Given the description of an element on the screen output the (x, y) to click on. 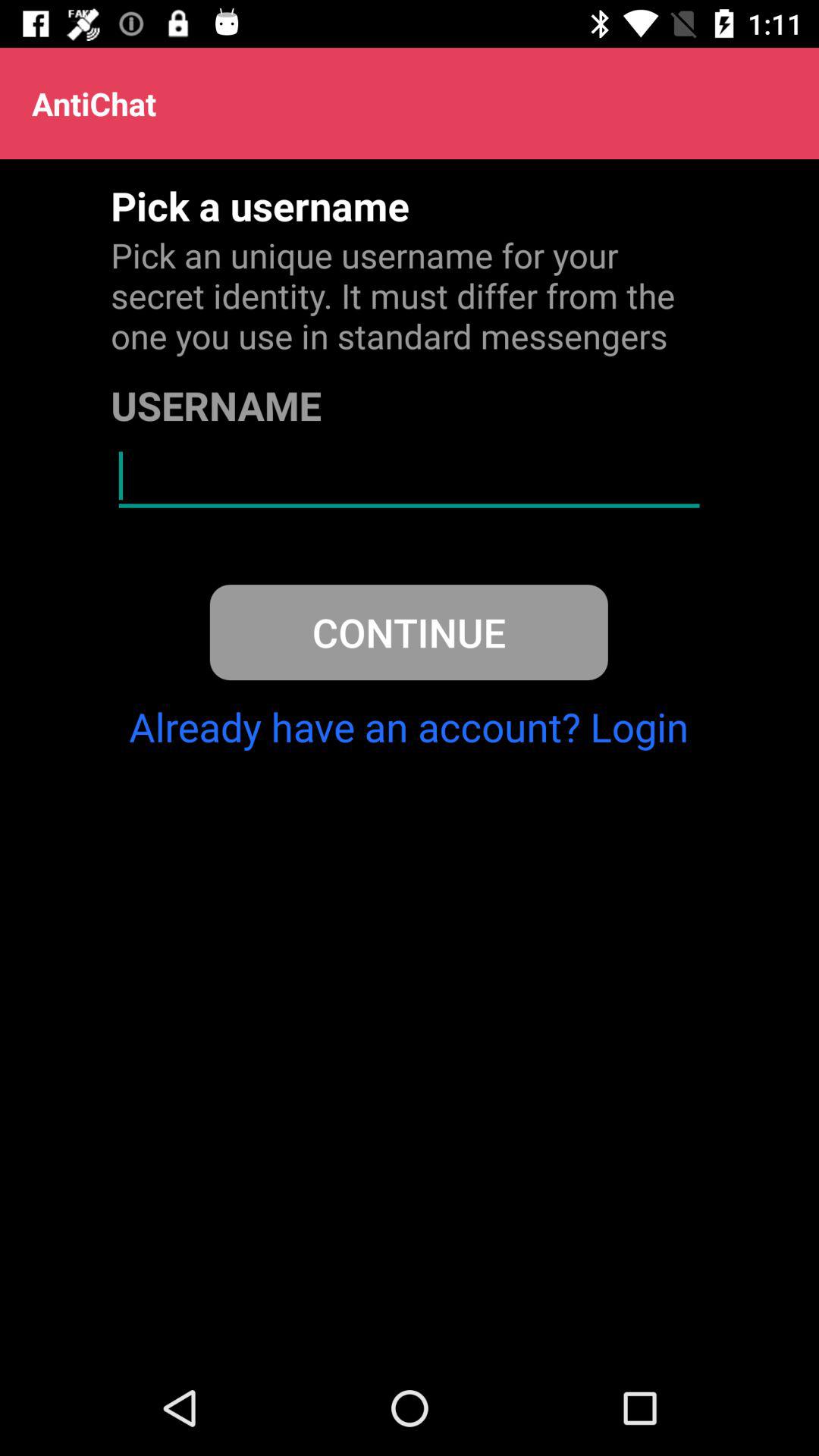
type username box (408, 476)
